Given the description of an element on the screen output the (x, y) to click on. 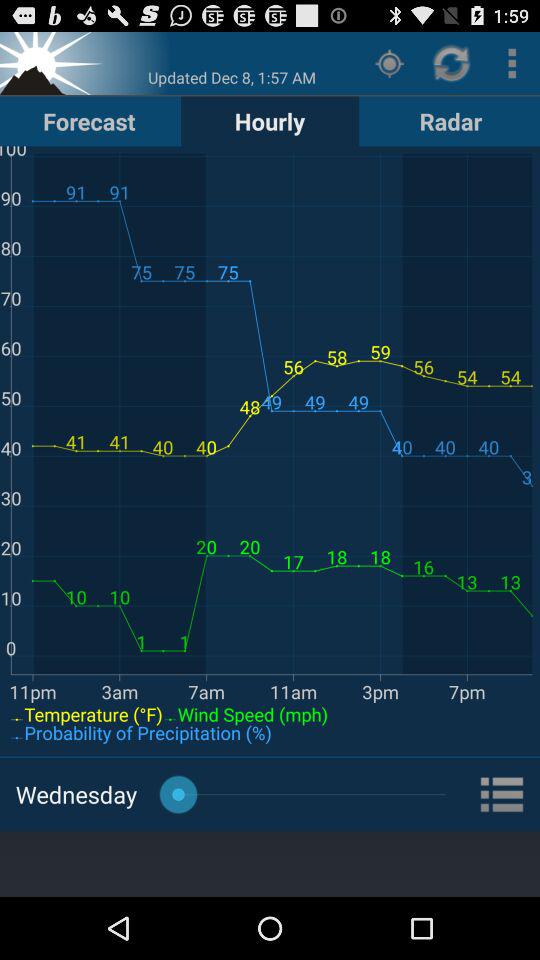
select icon next to the hourly item (389, 62)
